Given the description of an element on the screen output the (x, y) to click on. 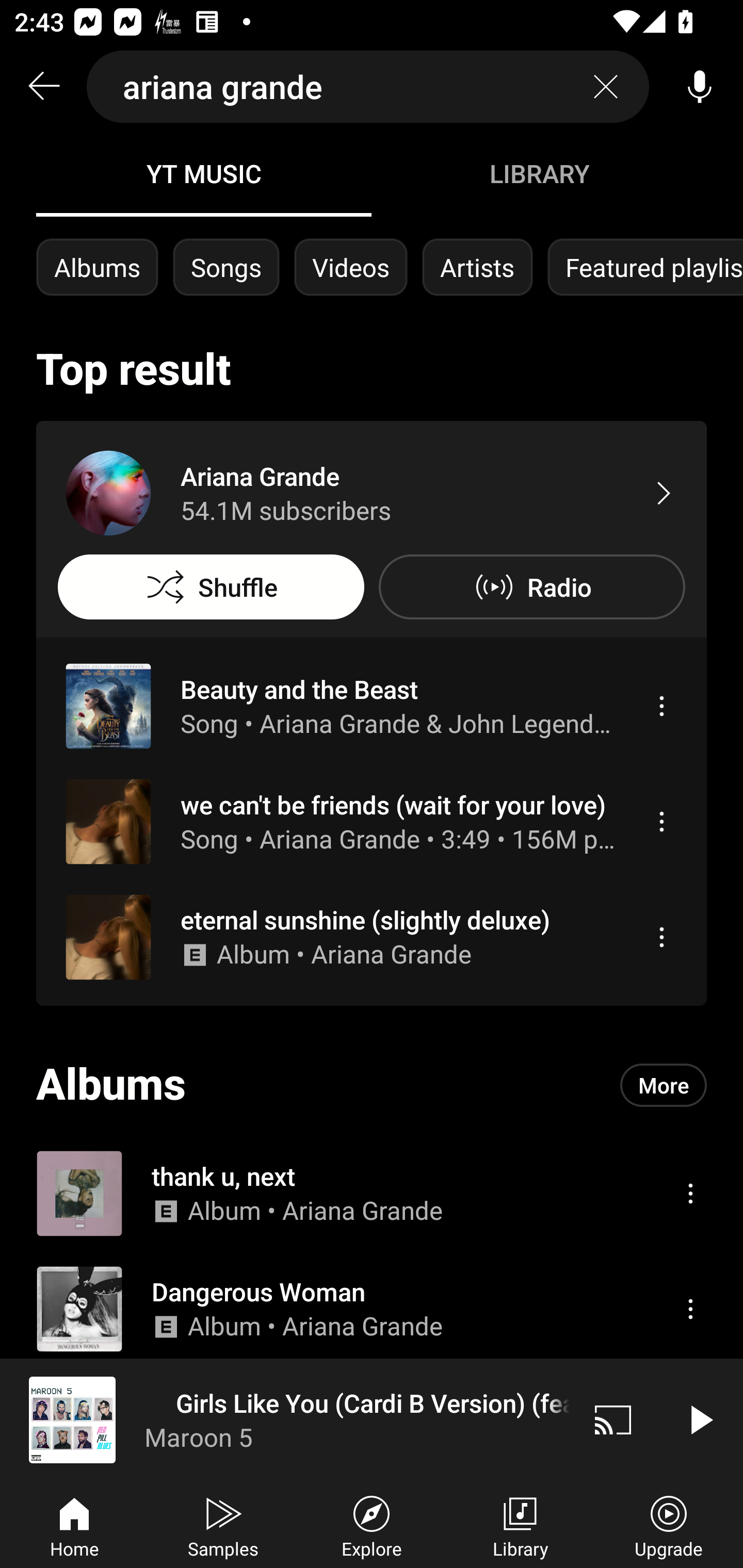
Search back (43, 86)
ariana grande (367, 86)
Clear search (605, 86)
Voice search (699, 86)
Library LIBRARY (538, 173)
Shuffle (210, 587)
Radio (531, 587)
Menu (661, 705)
Menu (661, 821)
Menu (661, 937)
Albums More More (371, 1084)
More (663, 1085)
Menu (690, 1193)
Menu (690, 1309)
Cast. Disconnected (612, 1419)
Play video (699, 1419)
Home (74, 1524)
Samples (222, 1524)
Explore (371, 1524)
Library (519, 1524)
Upgrade (668, 1524)
